Given the description of an element on the screen output the (x, y) to click on. 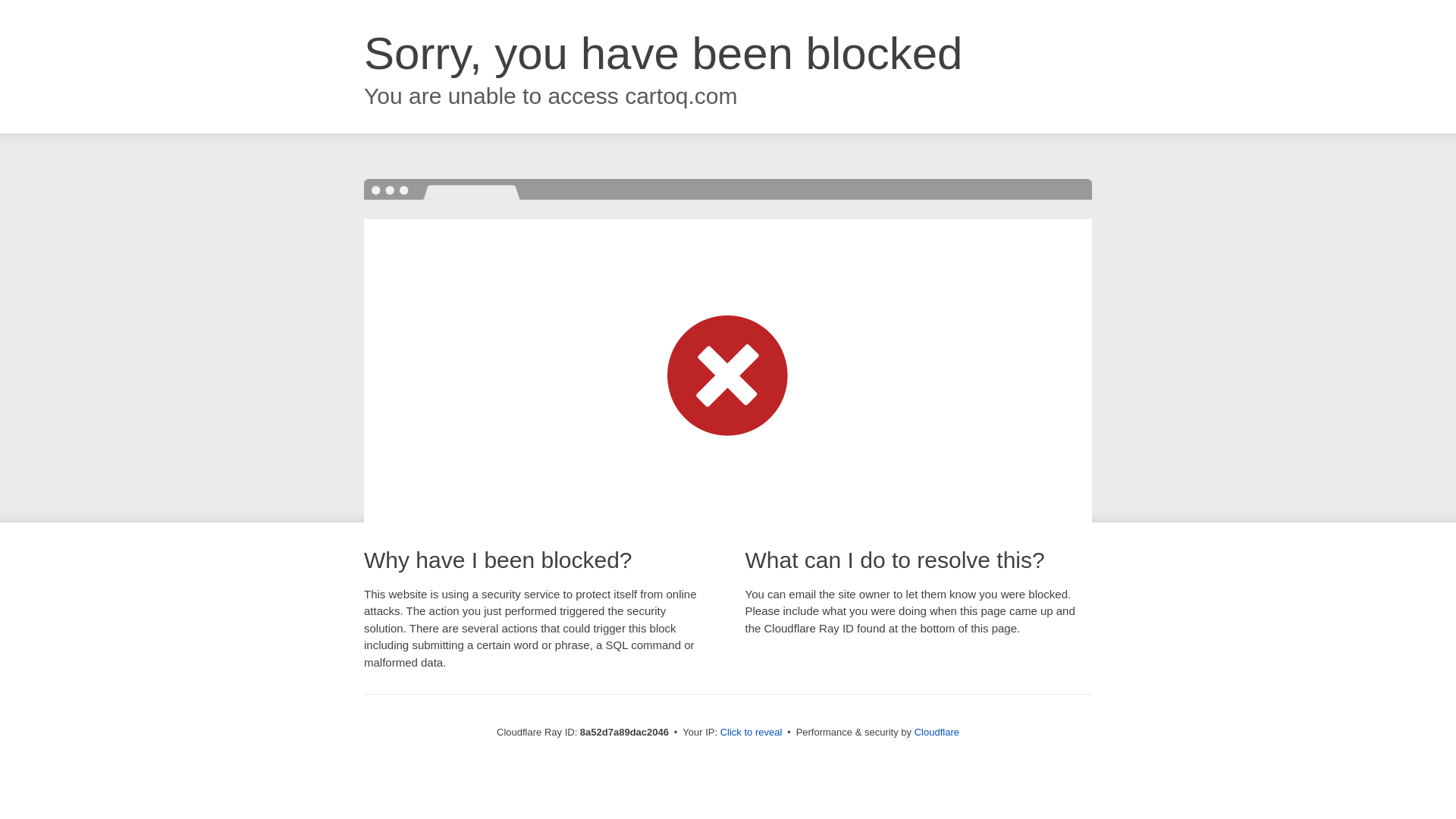
Click to reveal (751, 732)
Cloudflare (936, 731)
